Given the description of an element on the screen output the (x, y) to click on. 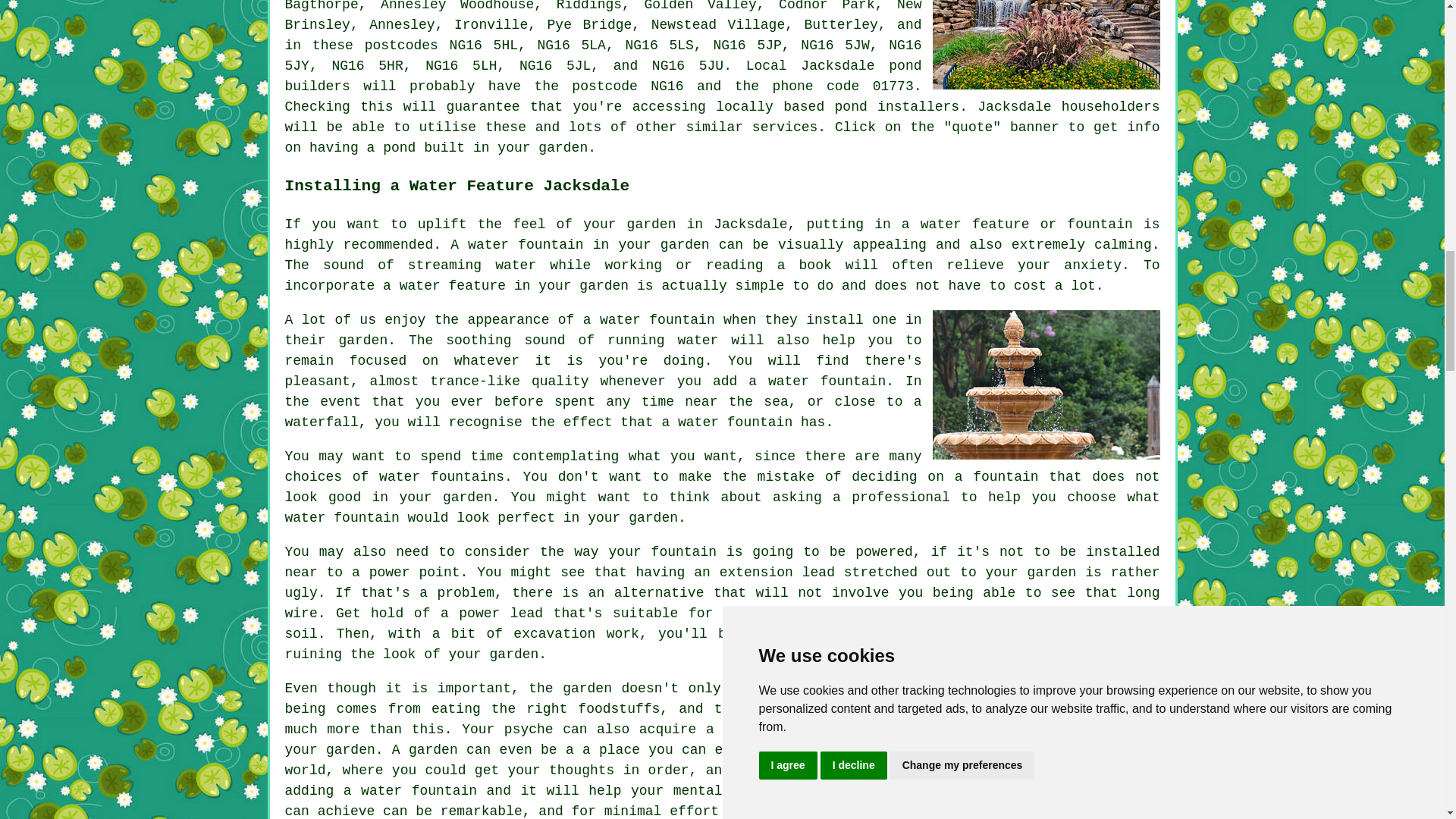
pond builders (603, 76)
Water Fountains Jacksdale (1046, 384)
pond installers (896, 106)
Water Features Jacksdale (1046, 44)
